Given the description of an element on the screen output the (x, y) to click on. 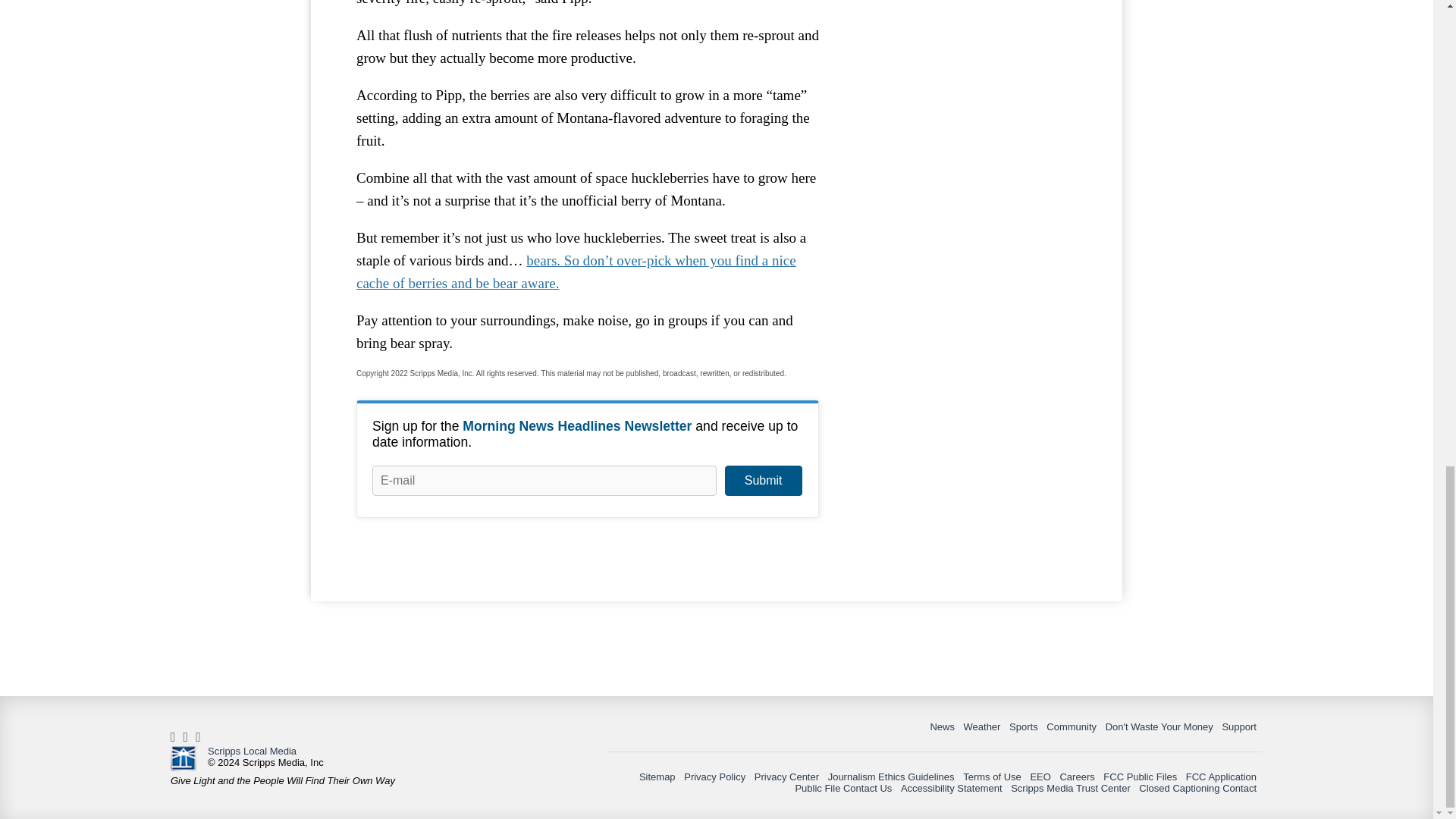
Submit (763, 481)
